Given the description of an element on the screen output the (x, y) to click on. 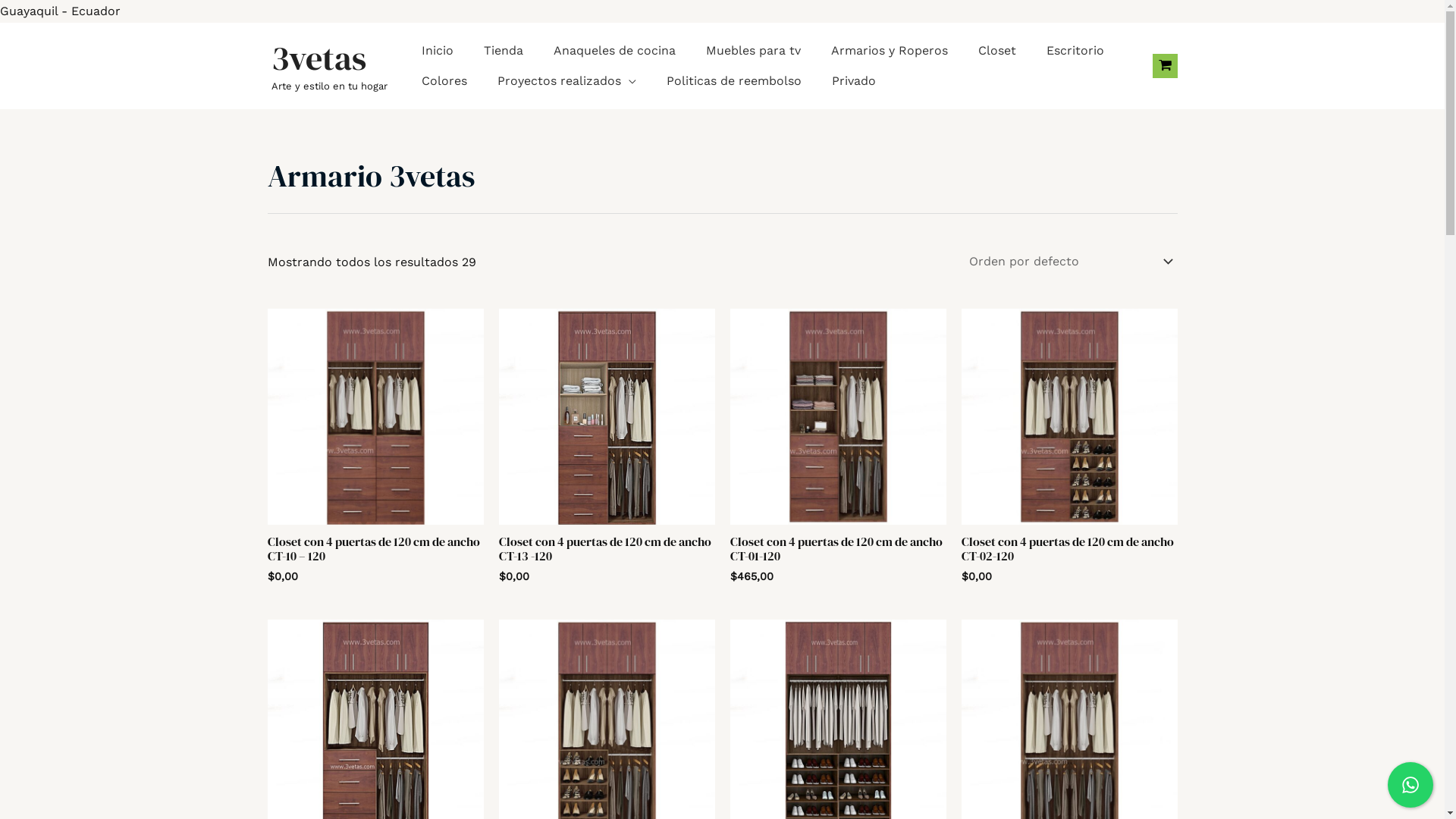
Muebles para tv Element type: text (752, 50)
Armarios y Roperos Element type: text (889, 50)
Closet con 4 puertas de 120 cm de ancho CT-13 -120 Element type: text (606, 551)
Escritorio Element type: text (1075, 50)
Inicio Element type: text (437, 50)
3vetas Element type: text (318, 57)
Colores Element type: text (444, 80)
Tienda Element type: text (503, 50)
Proyectos realizados Element type: text (566, 80)
Anaqueles de cocina Element type: text (614, 50)
Closet con 4 puertas de 120 cm de ancho CT-02-120 Element type: text (1069, 551)
Closet Element type: text (997, 50)
Privado Element type: text (852, 80)
Closet con 4 puertas de 120 cm de ancho CT-01-120 Element type: text (837, 551)
Politicas de reembolso Element type: text (732, 80)
